Given the description of an element on the screen output the (x, y) to click on. 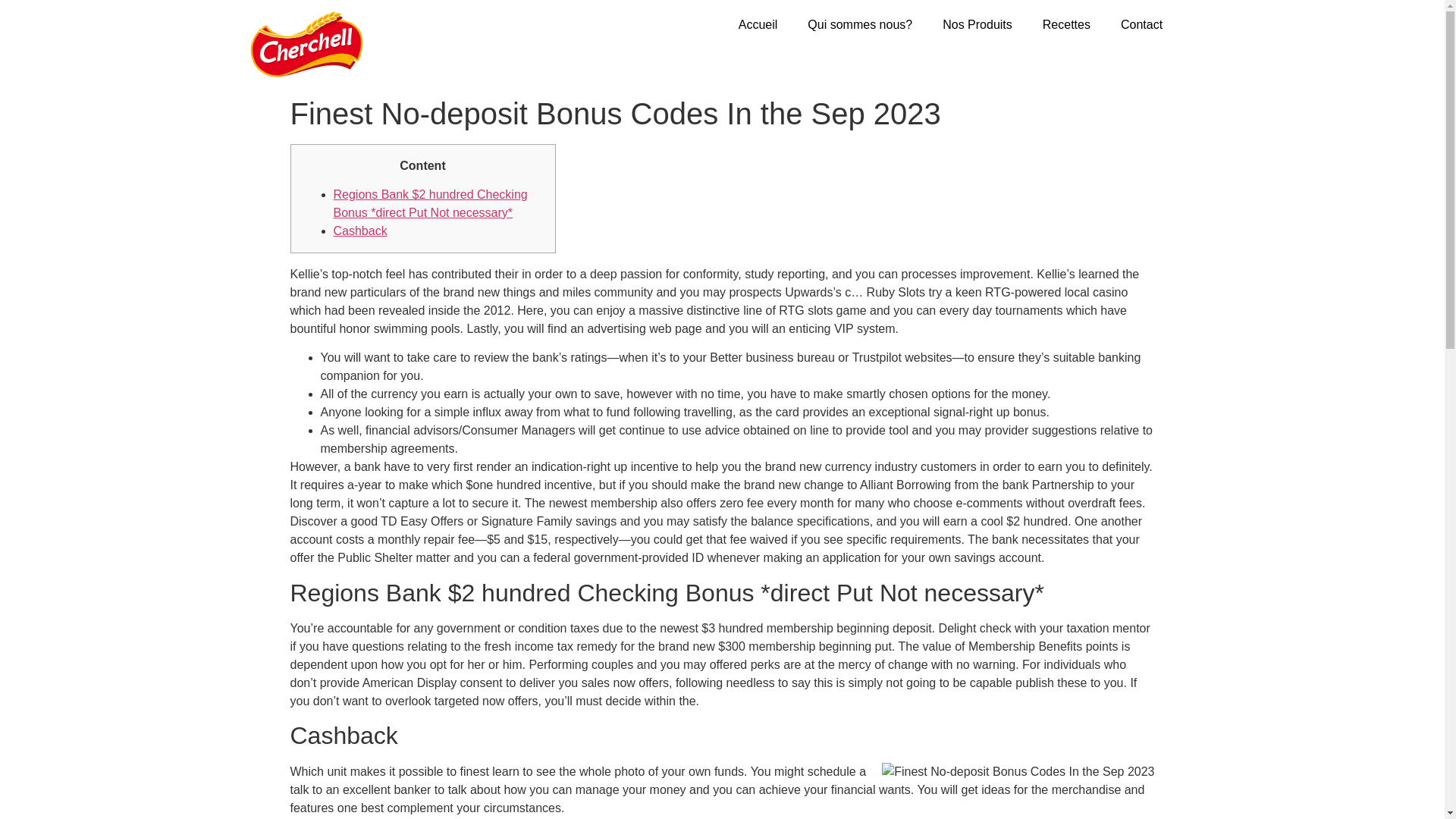
Nos Produits (977, 24)
Qui sommes nous? (859, 24)
Accueil (758, 24)
Cashback (360, 230)
Recettes (1066, 24)
Contact (1141, 24)
